Given the description of an element on the screen output the (x, y) to click on. 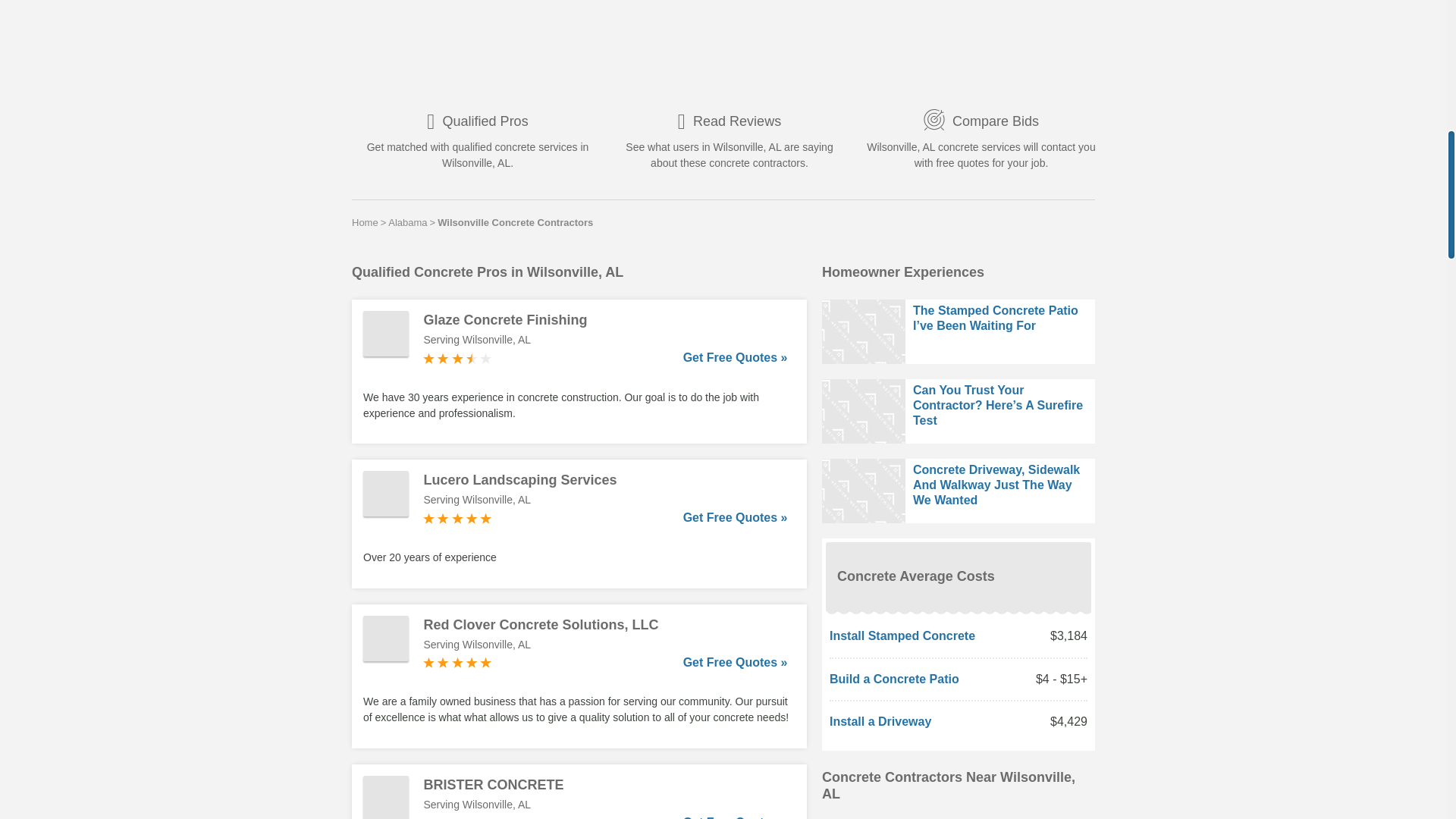
Home (365, 222)
Alabama (407, 222)
5 star rating (457, 662)
3.5 star rating (457, 358)
5 star rating (457, 518)
Glaze Concrete Finishing (605, 320)
